Given the description of an element on the screen output the (x, y) to click on. 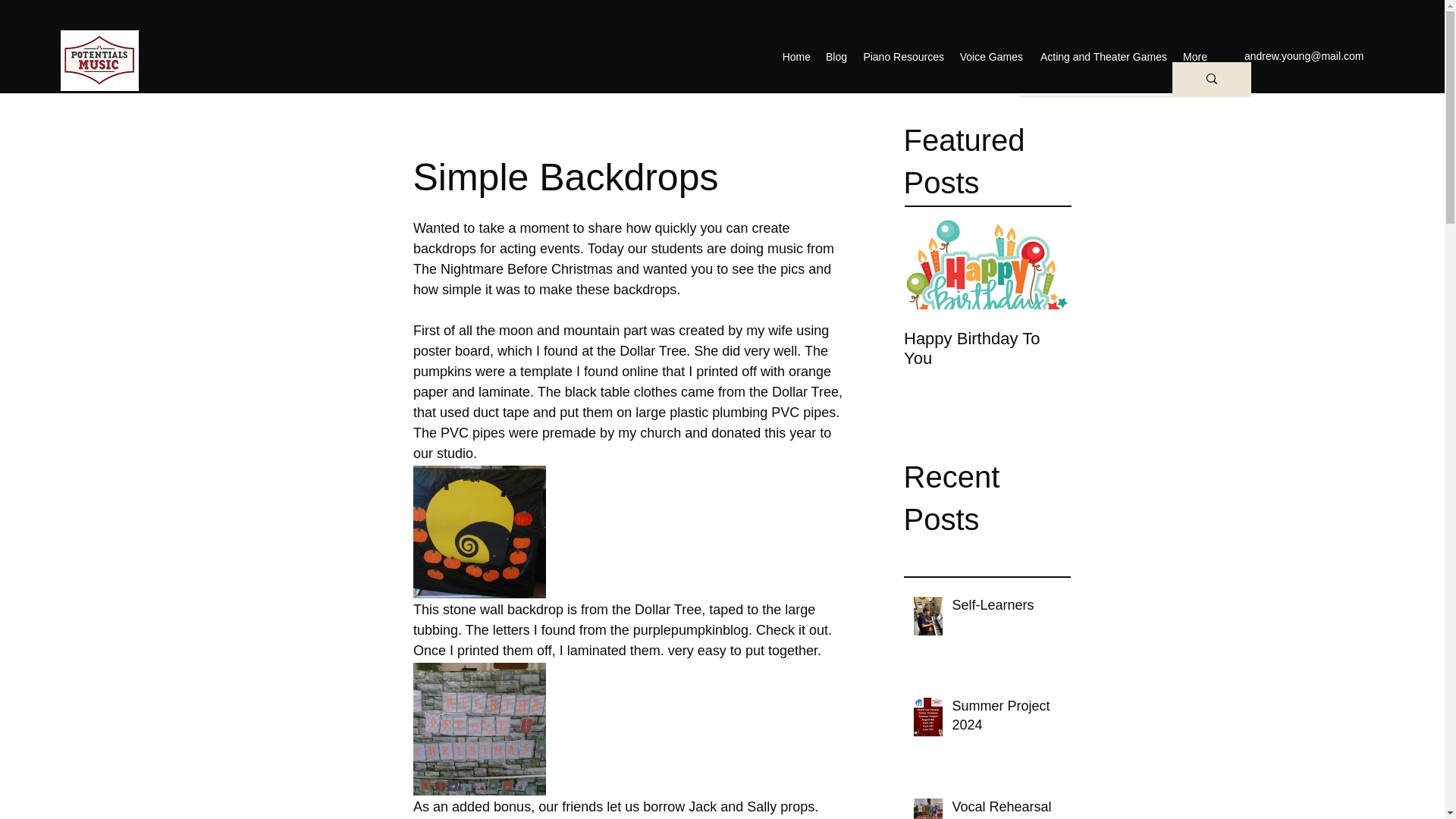
Blog (836, 56)
Happy Birthday To You (987, 348)
Piano Resources (903, 56)
Voice Games (991, 56)
Home (796, 56)
Vocal Rehearsal for Summer Project (1006, 808)
Self-Learners (1006, 608)
Summer Project 2024 (1006, 718)
Acting and Theater Games (1102, 56)
